Given the description of an element on the screen output the (x, y) to click on. 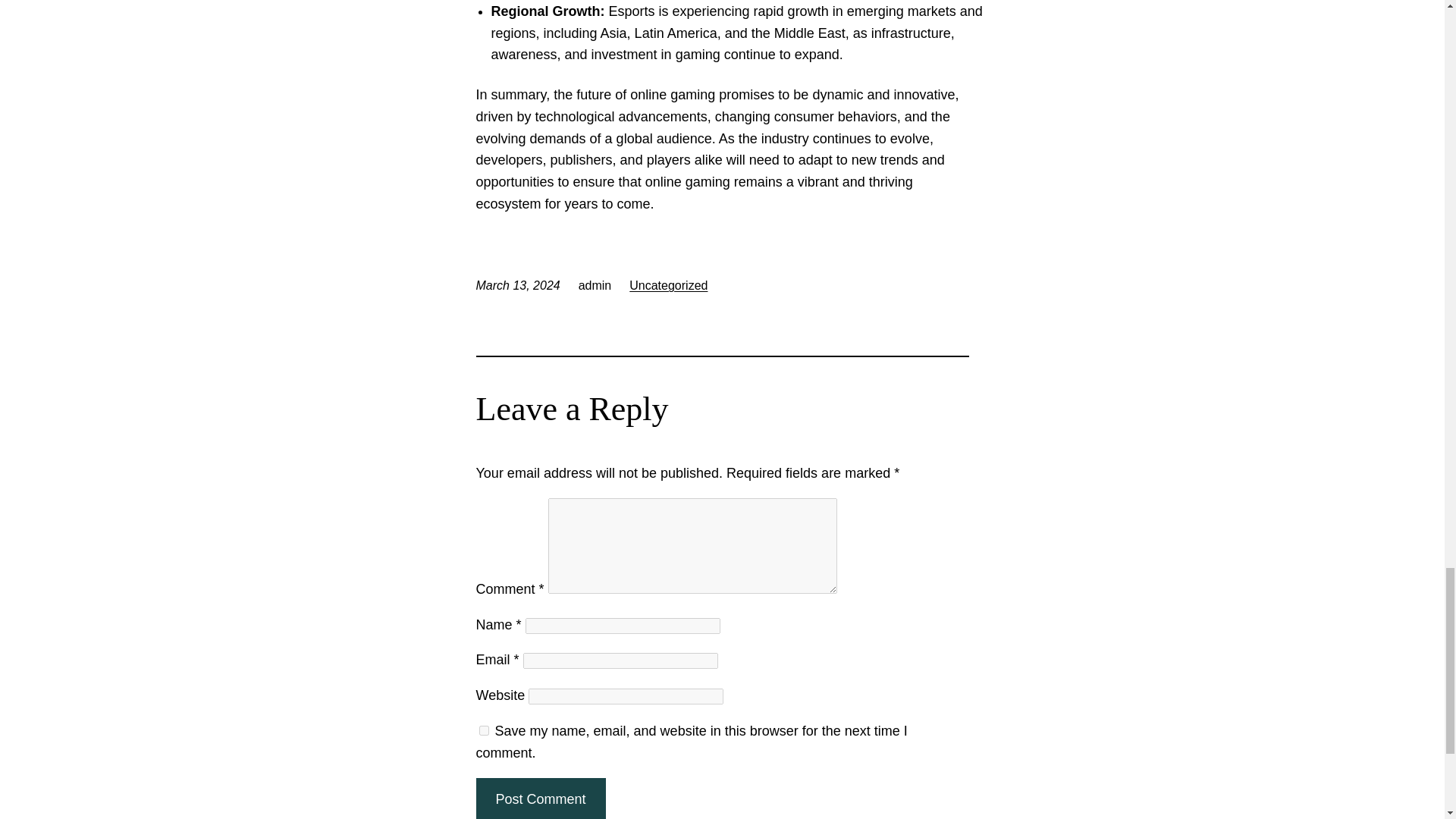
Post Comment (540, 798)
yes (484, 730)
Uncategorized (667, 285)
Post Comment (540, 798)
